Given the description of an element on the screen output the (x, y) to click on. 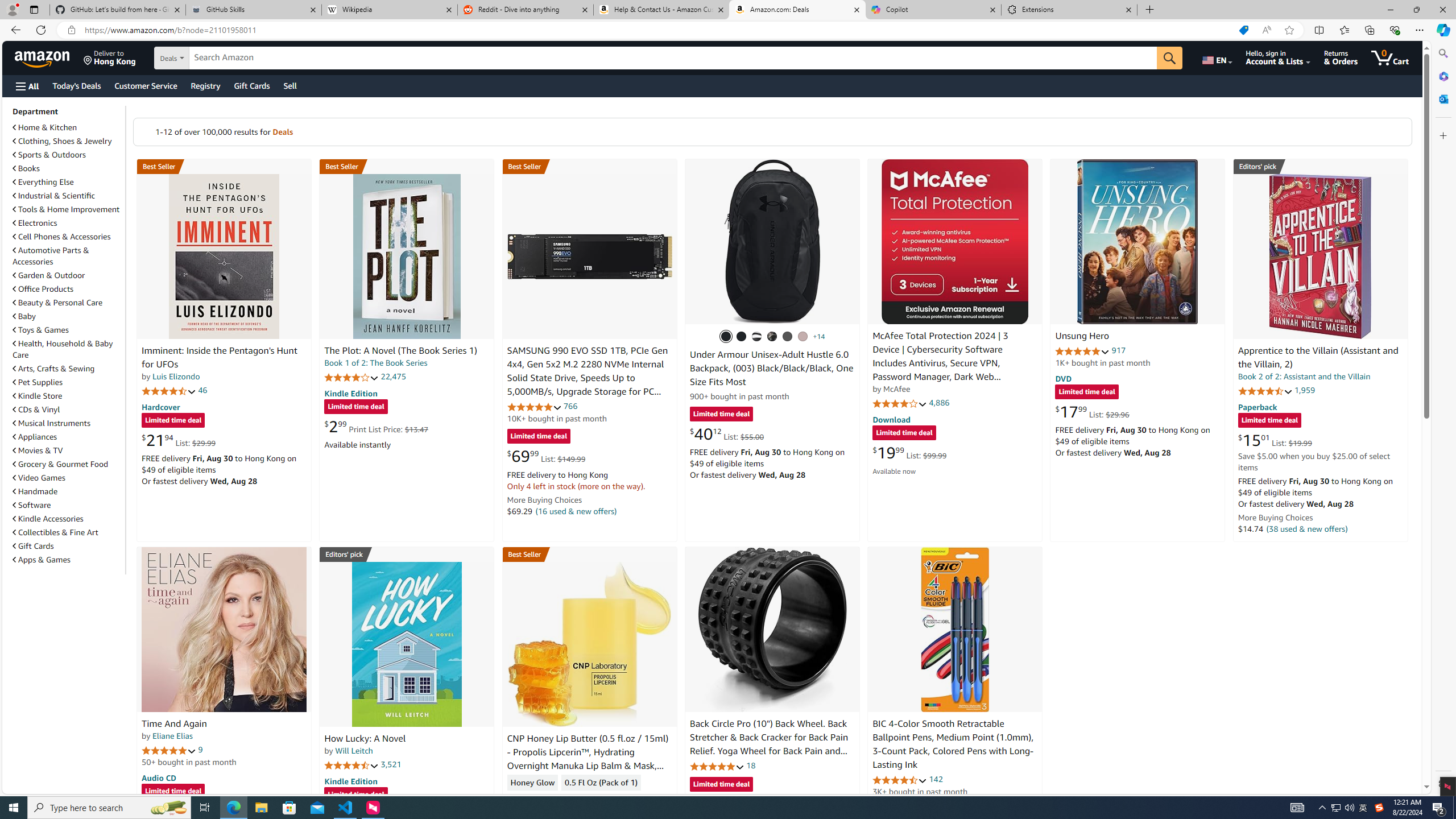
4.7 out of 5 stars (168, 390)
Today's Deals (76, 85)
GitHub Skills (253, 9)
Garden & Outdoor (49, 275)
Editors' pick Best Science Fiction & Fantasy (1320, 165)
5.0 out of 5 stars (168, 750)
Imminent: Inside the Pentagon's Hunt for UFOs (223, 256)
Books (26, 167)
Book 2 of 2: Assistant and the Villain (1303, 376)
Arts, Crafts & Sewing (53, 368)
Toys & Games (40, 329)
